Given the description of an element on the screen output the (x, y) to click on. 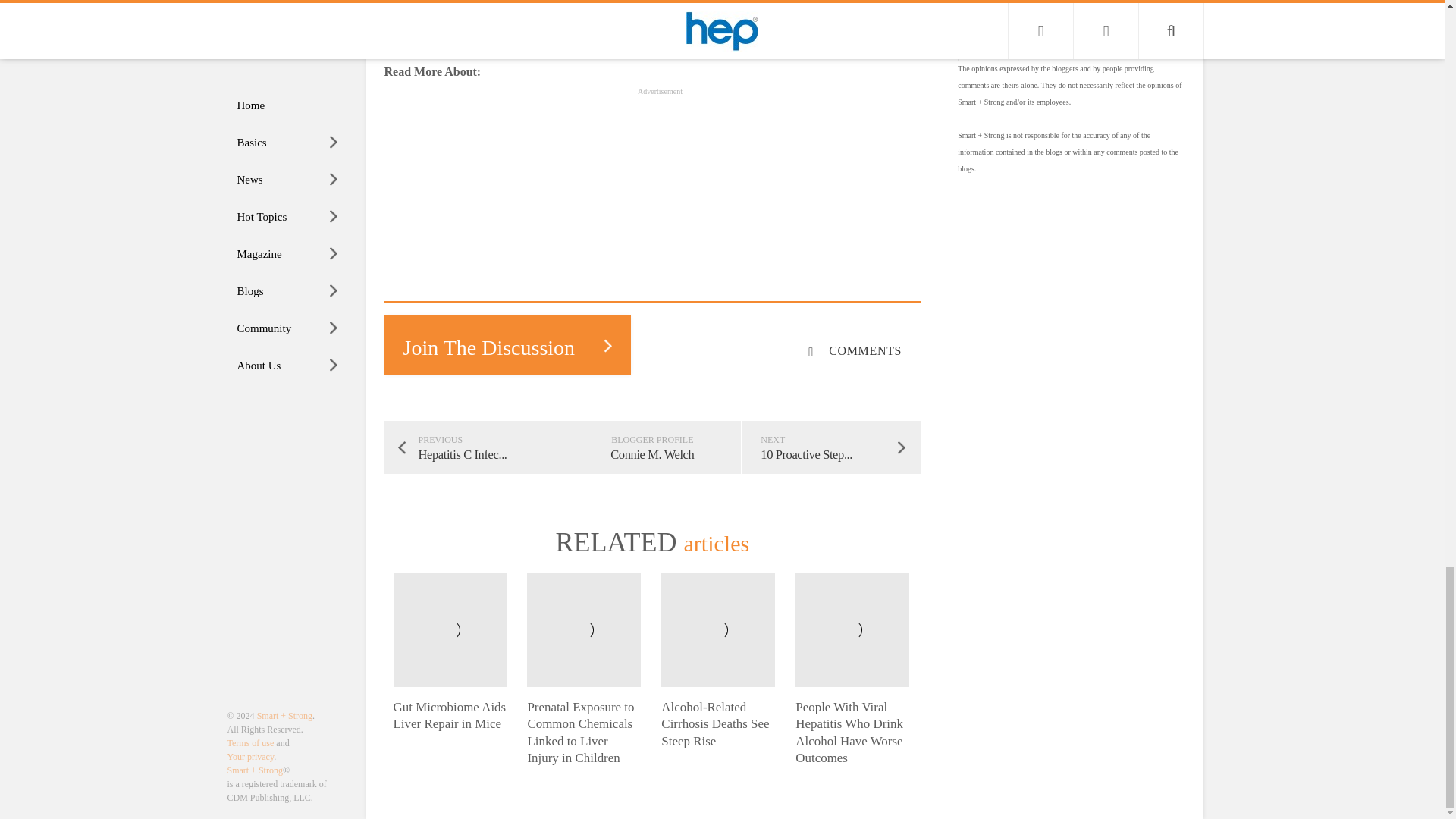
3rd party ad content (660, 198)
